Given the description of an element on the screen output the (x, y) to click on. 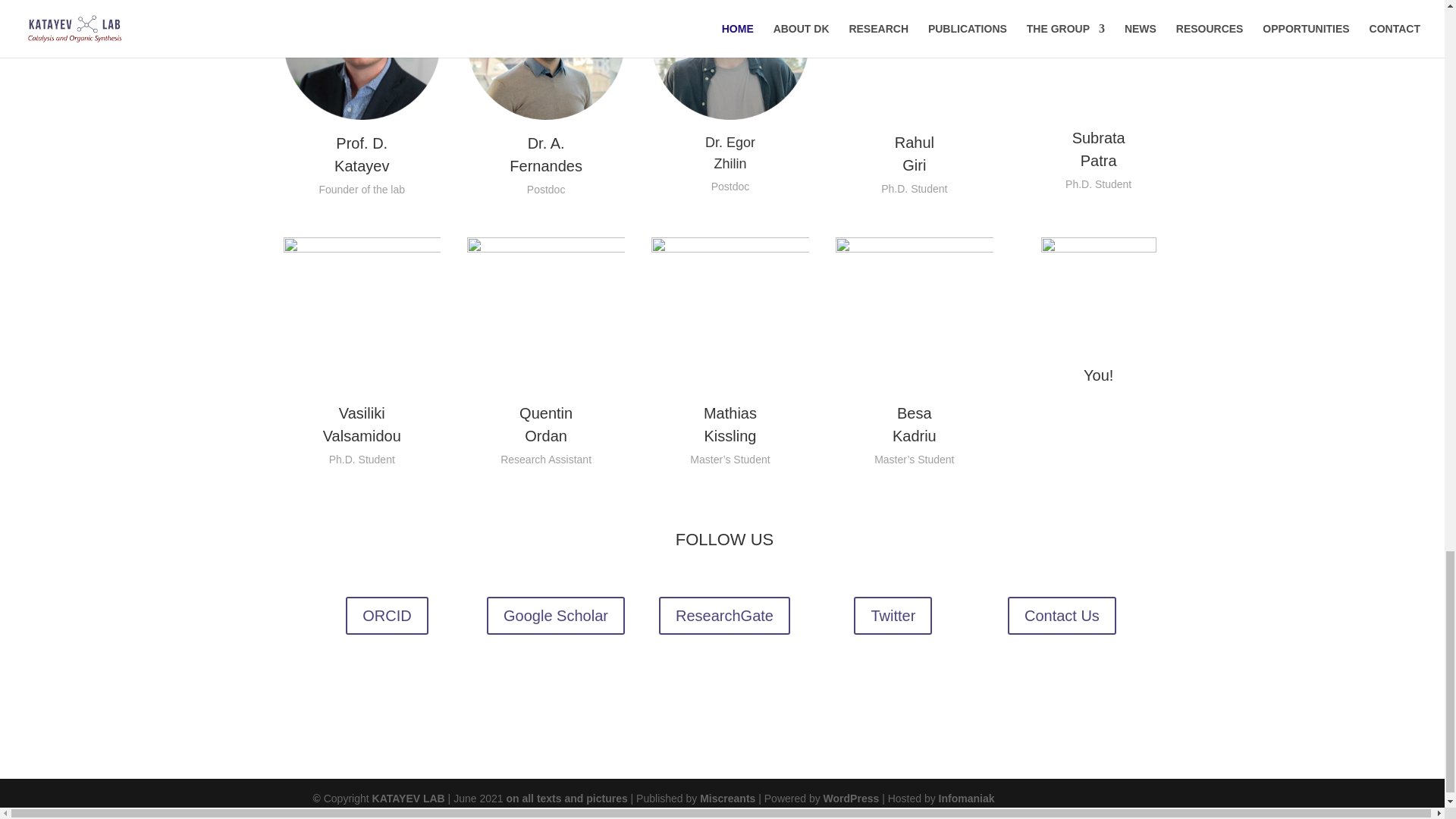
ResearchGate (724, 615)
Miscreants (727, 798)
KATAYEV LAB (408, 798)
Twitter (892, 615)
WordPress (851, 798)
on all texts and pictures (566, 798)
Infomaniak (966, 798)
Google Scholar (555, 615)
ORCID (387, 615)
Contact Us (1061, 615)
